Given the description of an element on the screen output the (x, y) to click on. 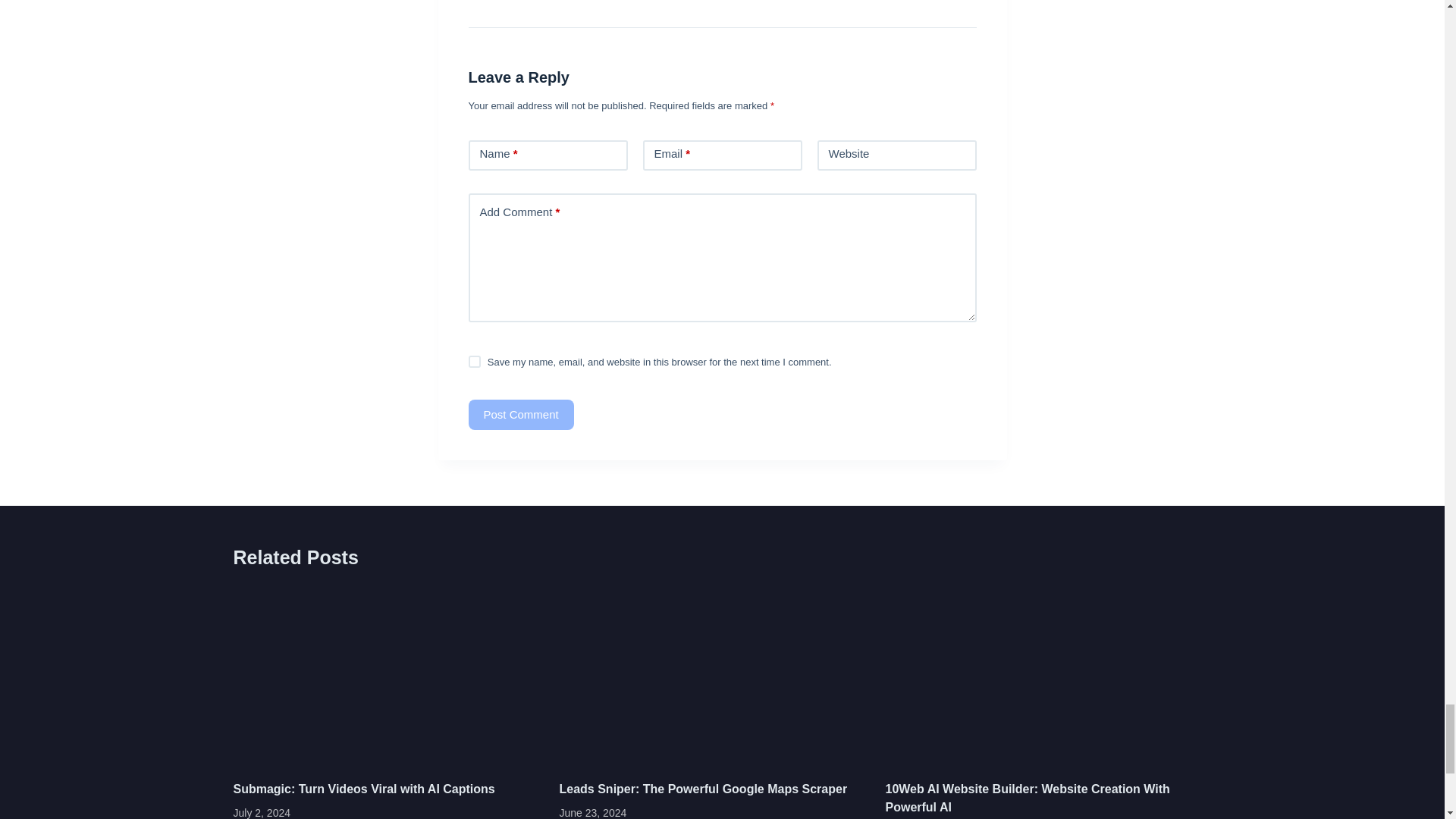
yes (474, 361)
